Given the description of an element on the screen output the (x, y) to click on. 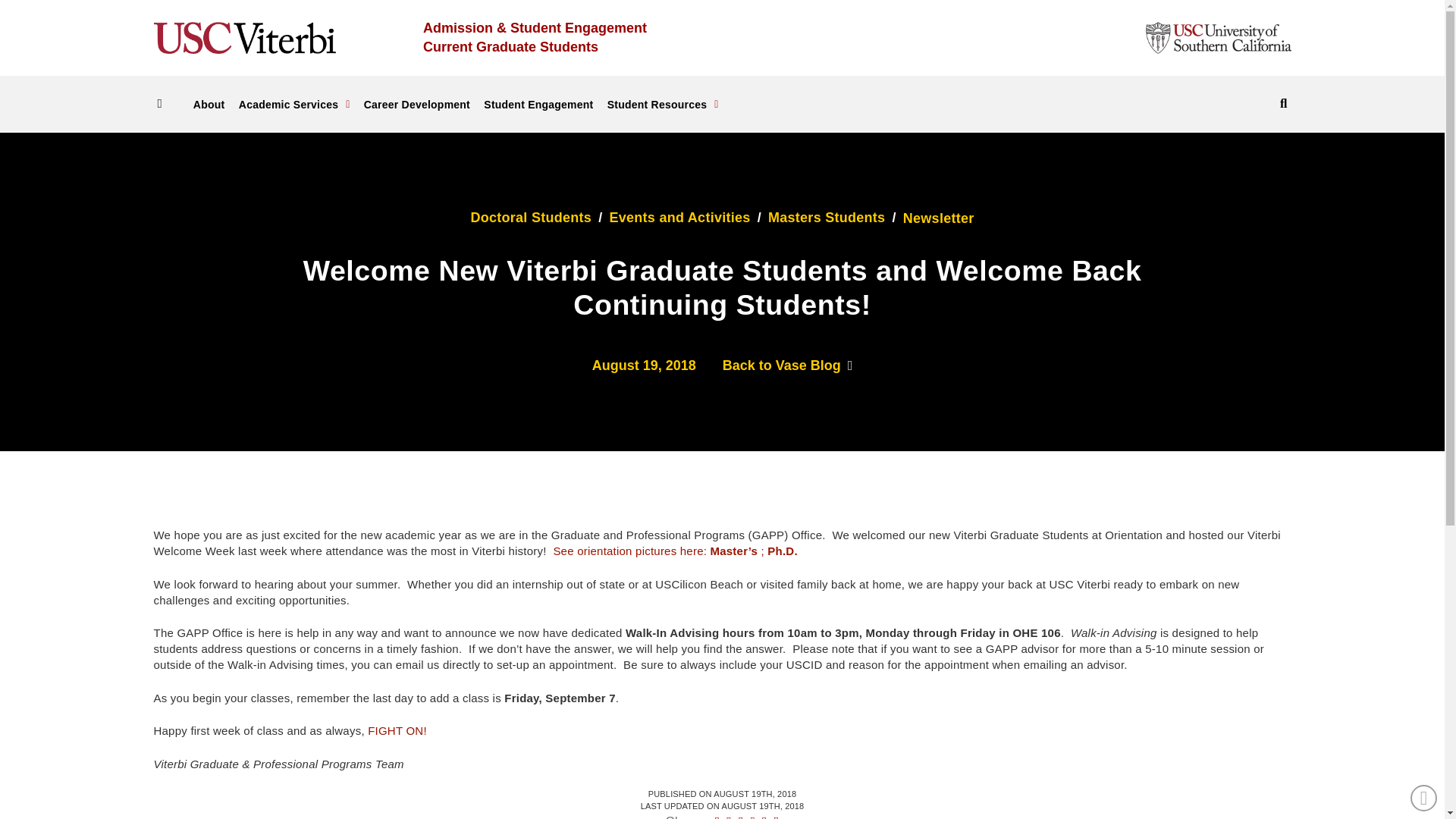
Student Engagement (538, 103)
About (208, 103)
Career Development (416, 103)
Doctoral Students (530, 217)
Masters Students (826, 217)
Events and Activities (680, 217)
Back to Top (1423, 797)
Newsletter (938, 218)
Ph.D.  (783, 550)
Student Resources (662, 103)
Academic Services (293, 103)
Back to Vase Blog (787, 365)
